Given the description of an element on the screen output the (x, y) to click on. 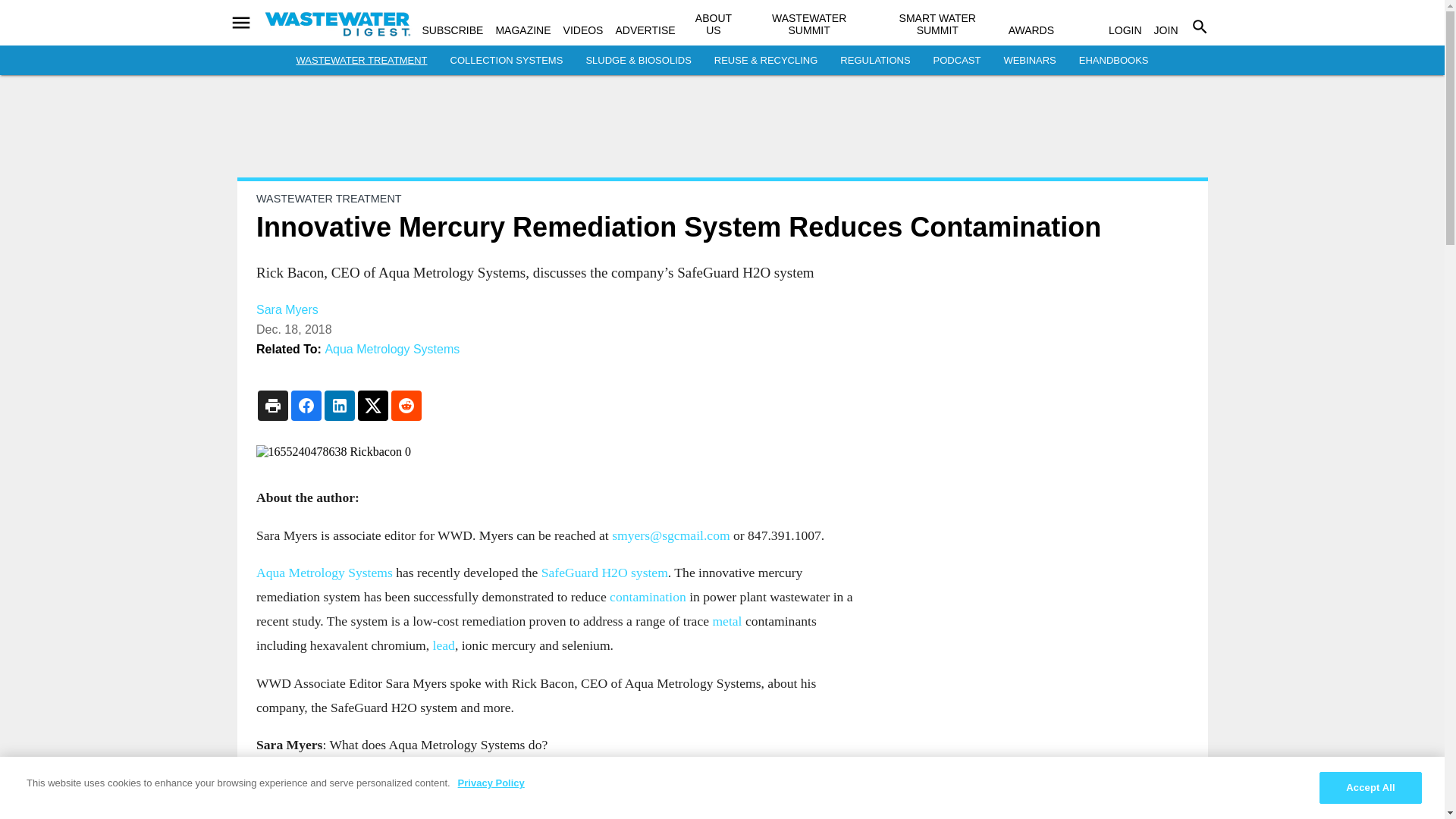
PODCAST (957, 60)
EHANDBOOKS (1113, 60)
JOIN (1165, 30)
VIDEOS (583, 30)
SUBSCRIBE (452, 30)
AWARDS (1031, 30)
1655240478638 Rickbacon 0 (560, 451)
WASTEWATER TREATMENT (360, 60)
SMART WATER SUMMIT (937, 24)
3rd party ad content (722, 131)
